Given the description of an element on the screen output the (x, y) to click on. 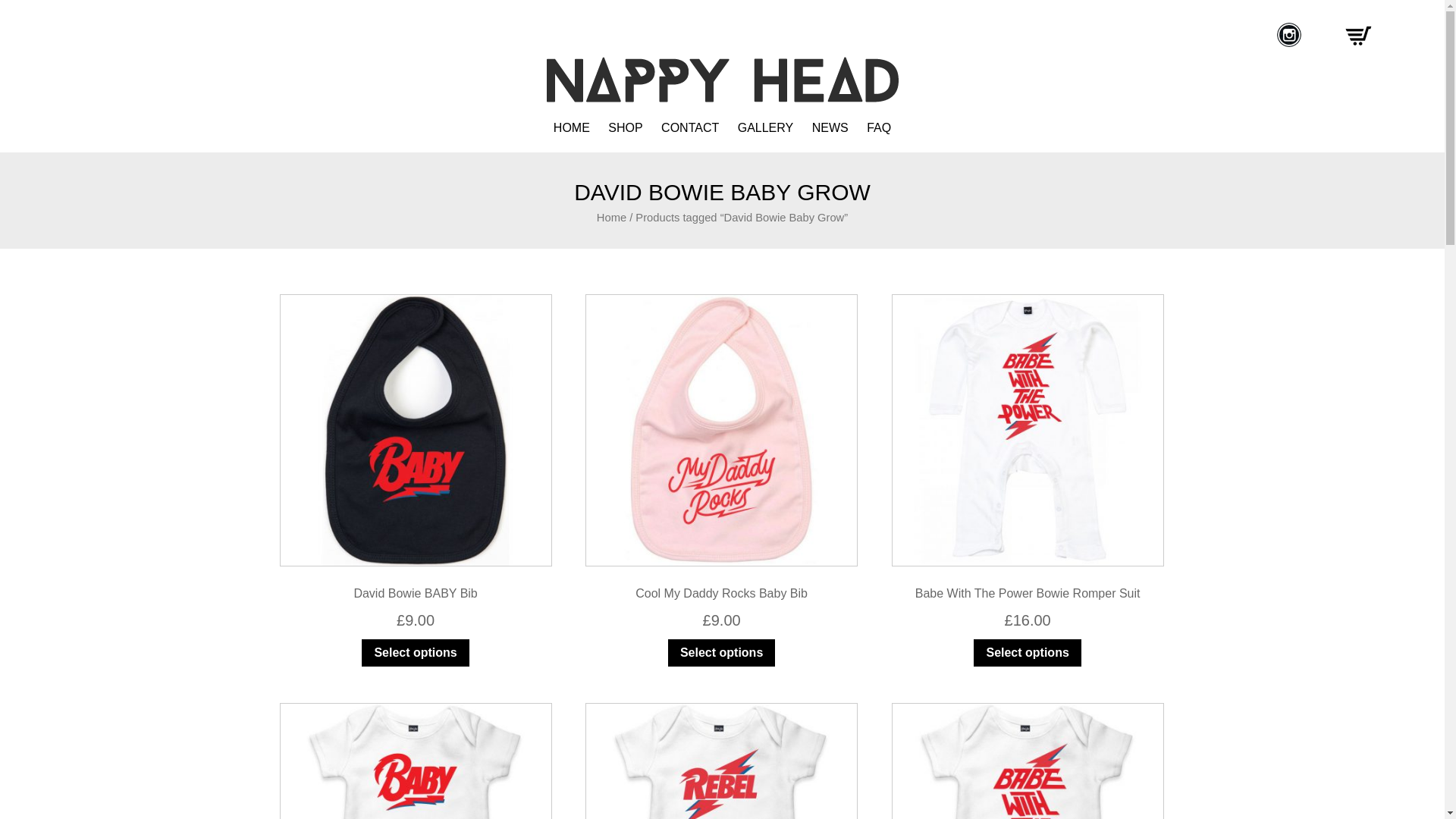
Select options (721, 652)
NEWS (830, 127)
GALLERY (765, 127)
Select options (414, 652)
Home (611, 217)
SHOP (625, 127)
CONTACT (690, 127)
FAQ (878, 127)
Select options (1027, 652)
HOME (571, 127)
